Given the description of an element on the screen output the (x, y) to click on. 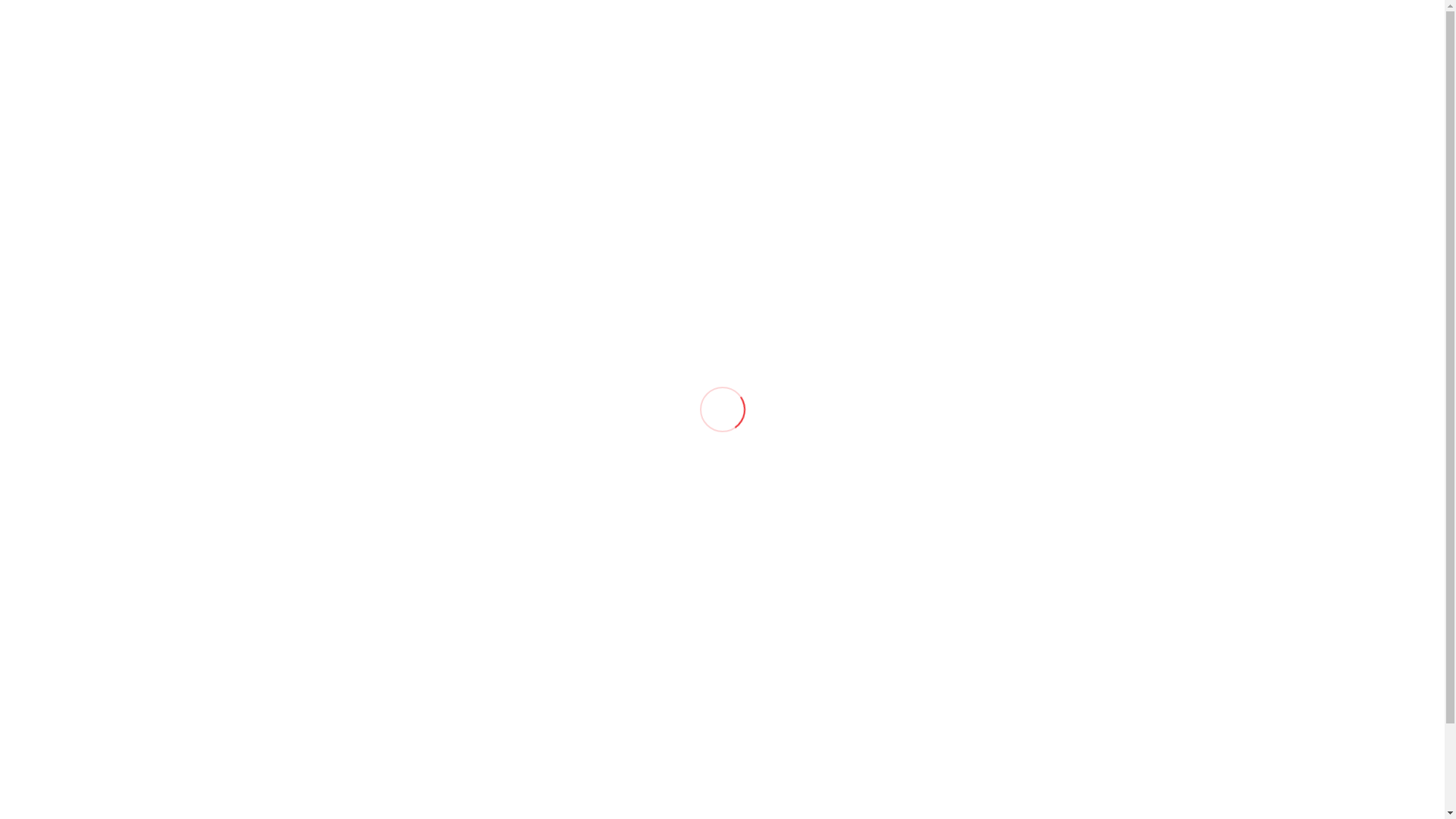
info@ltddash.by Element type: text (448, 14)
